Given the description of an element on the screen output the (x, y) to click on. 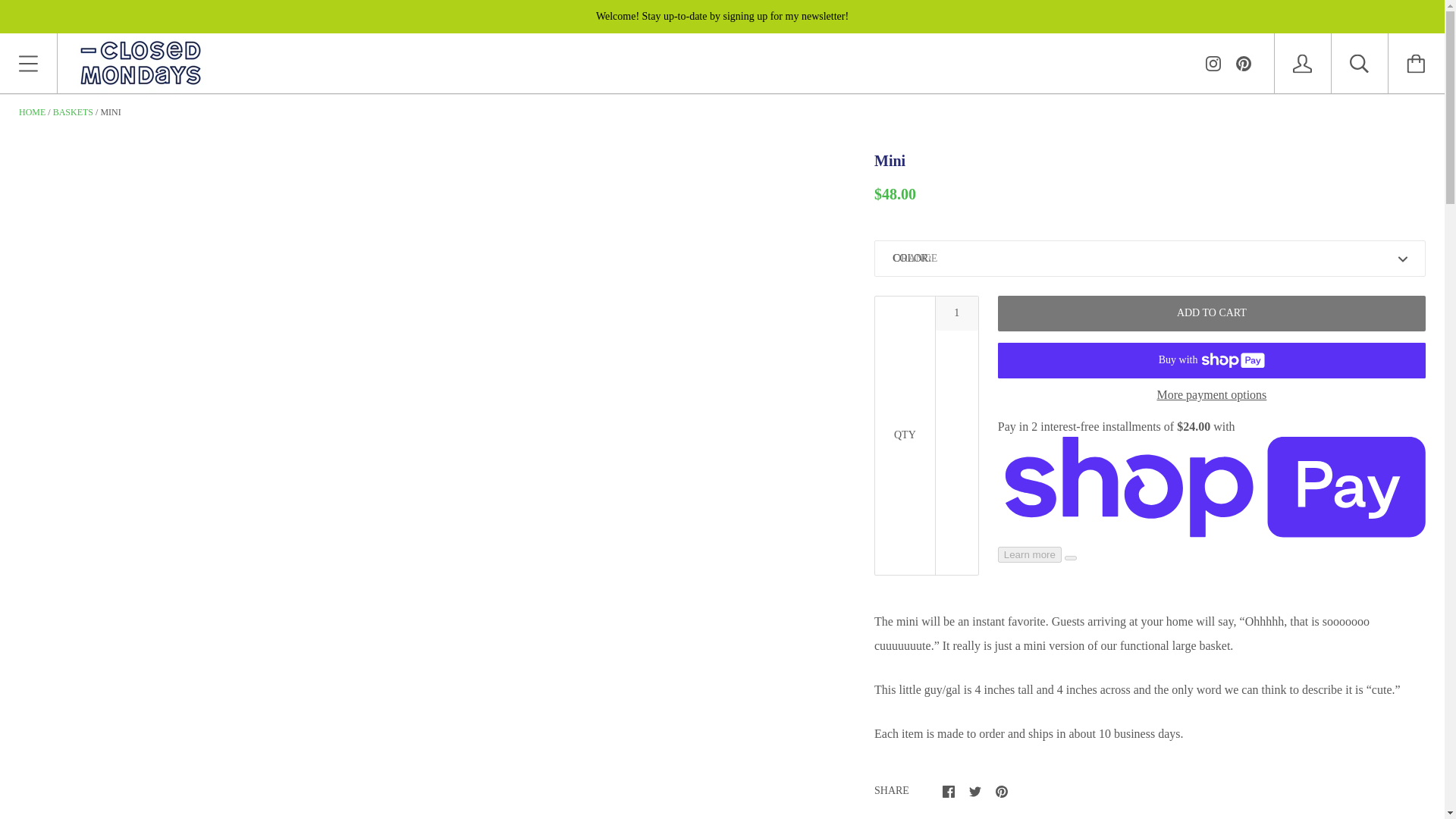
More payment options (1211, 394)
ADD TO CART (1211, 313)
1 (957, 313)
BASKETS (72, 112)
HOME (31, 112)
